Given the description of an element on the screen output the (x, y) to click on. 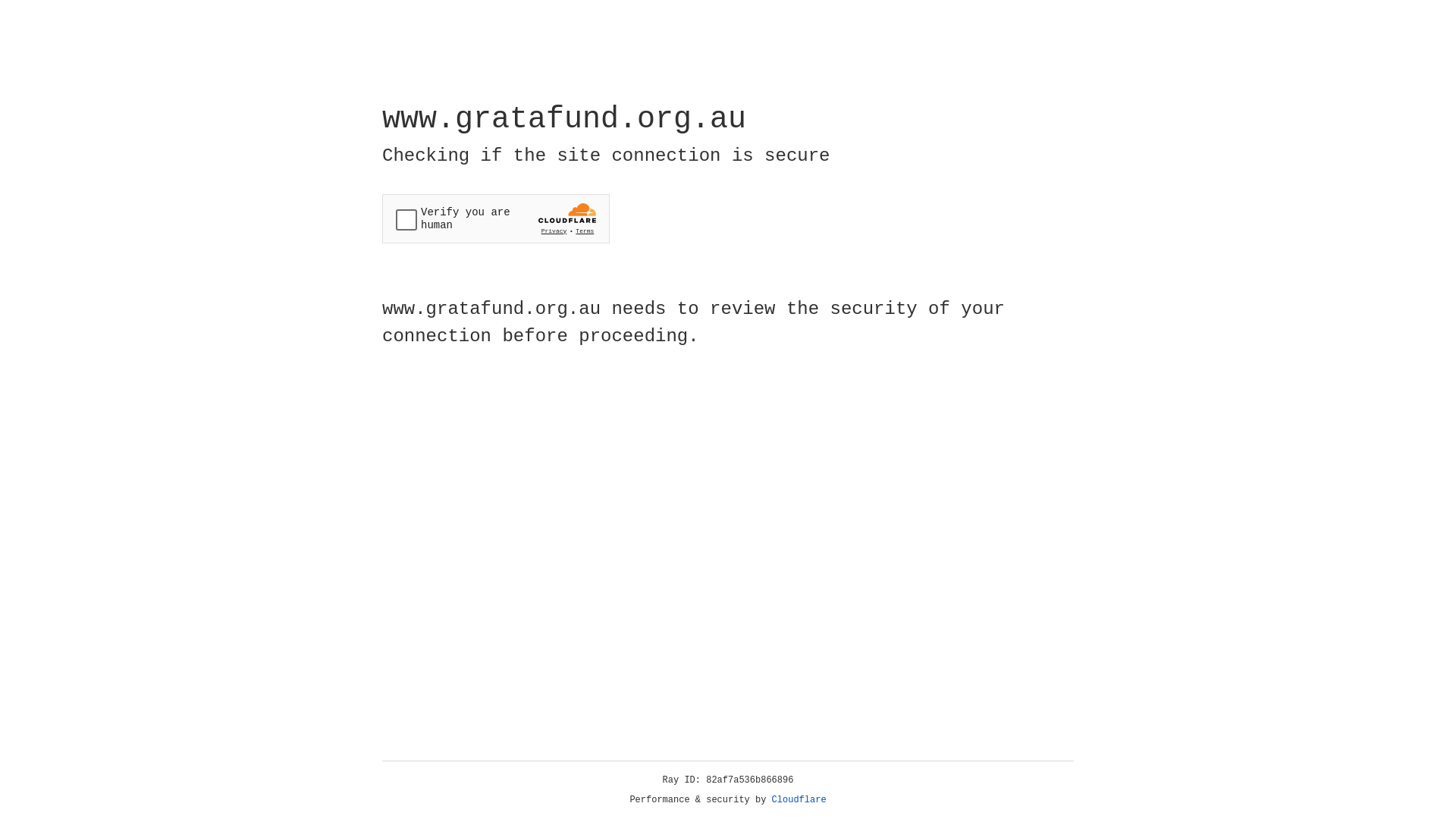
Cloudflare Element type: text (798, 799)
Widget containing a Cloudflare security challenge Element type: hover (495, 218)
